Given the description of an element on the screen output the (x, y) to click on. 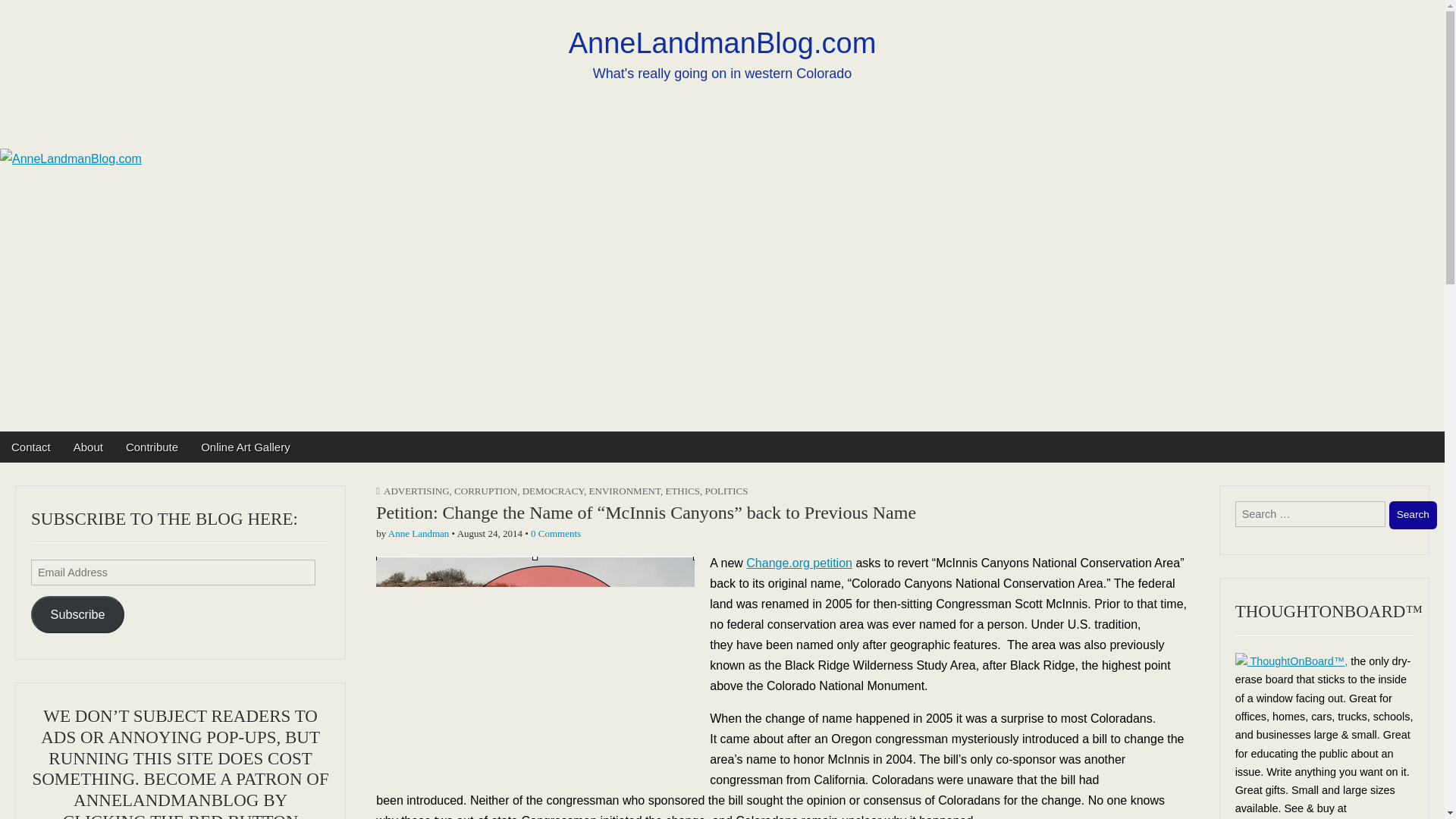
CORRUPTION (485, 490)
POLITICS (726, 490)
AnneLandmanBlog.com (722, 42)
ETHICS (682, 490)
Online Art Gallery (245, 446)
Search (1413, 514)
Posts by Anne Landman (418, 532)
ENVIRONMENT (625, 490)
About (88, 446)
Contact (31, 446)
